Given the description of an element on the screen output the (x, y) to click on. 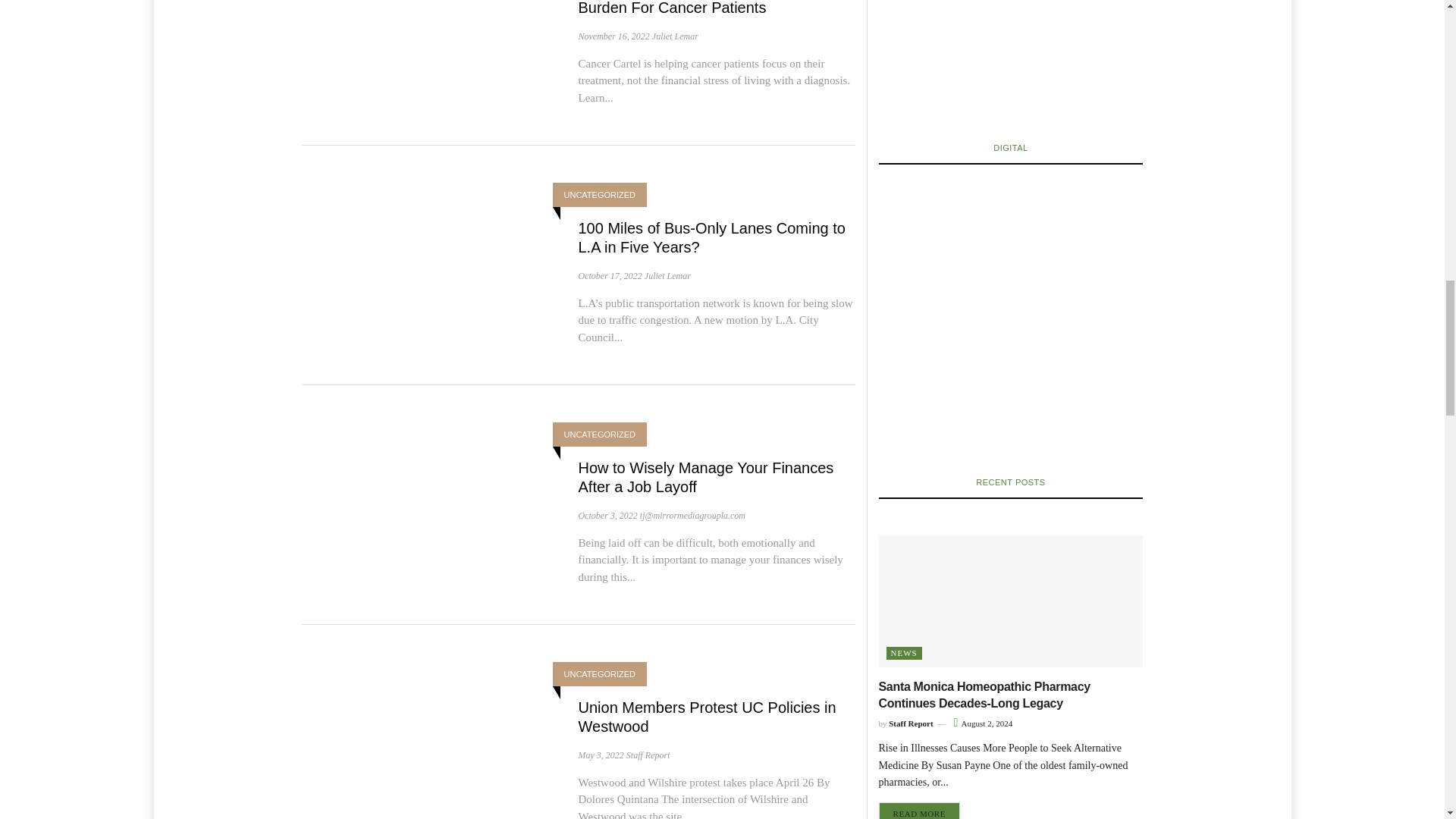
Posts by Juliet Lemar (675, 36)
